Given the description of an element on the screen output the (x, y) to click on. 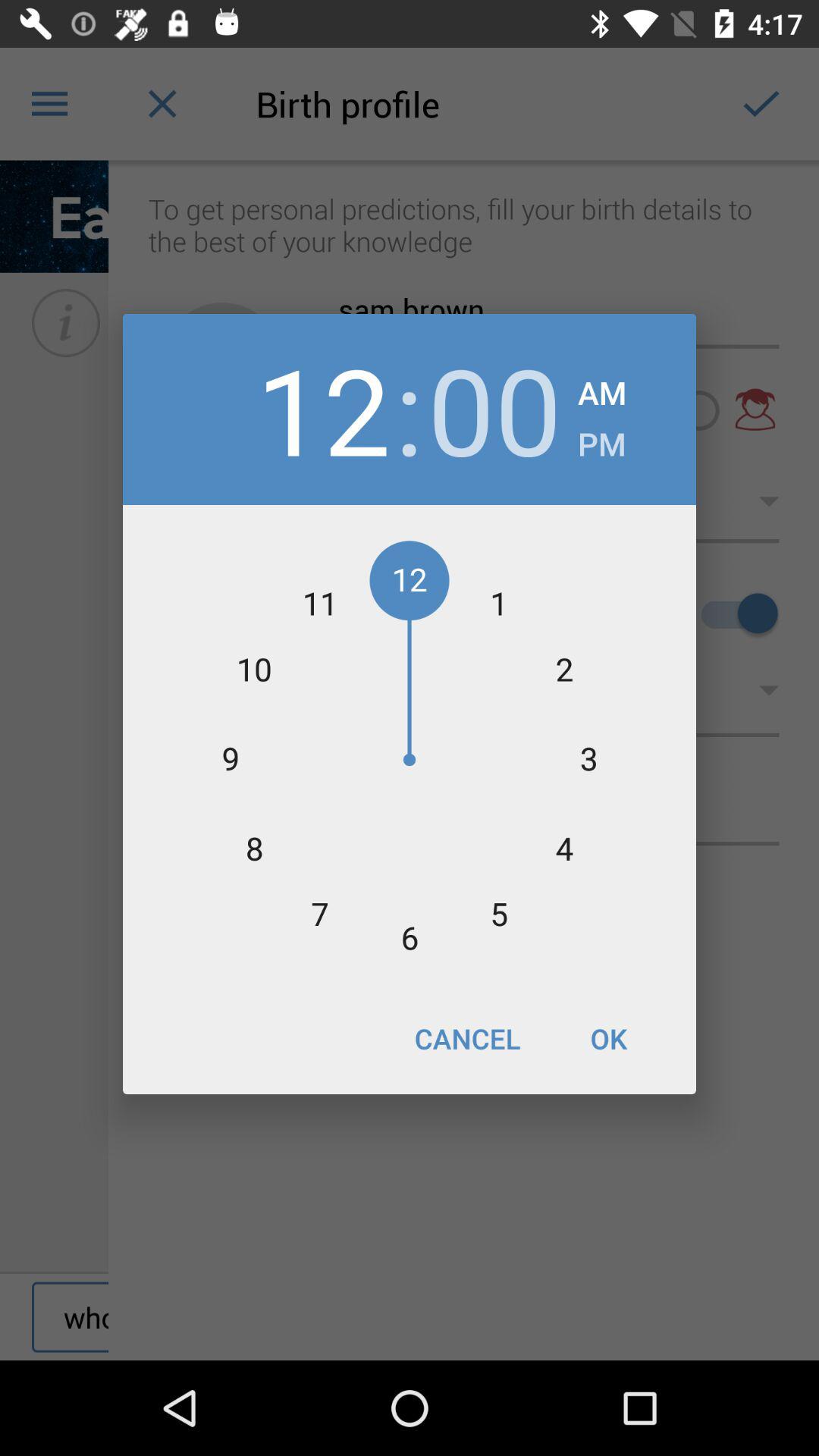
jump until the ok (608, 1038)
